Given the description of an element on the screen output the (x, y) to click on. 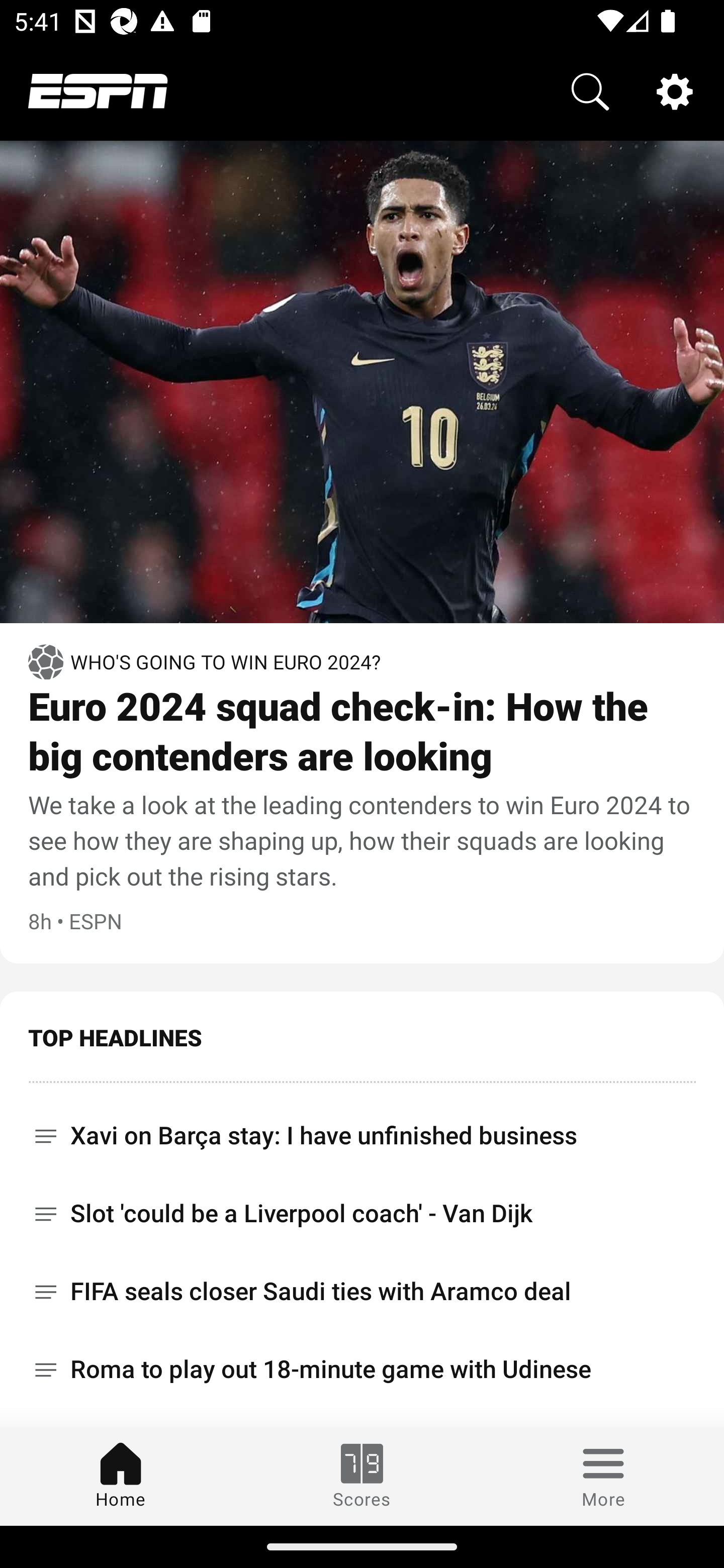
Search (590, 90)
Settings (674, 90)
 Xavi on Barça stay: I have unfinished business (362, 1128)
 Slot 'could be a Liverpool coach' - Van Dijk (362, 1213)
 FIFA seals closer Saudi ties with Aramco deal (362, 1291)
 Roma to play out 18-minute game with Udinese (362, 1369)
Scores (361, 1475)
More (603, 1475)
